Given the description of an element on the screen output the (x, y) to click on. 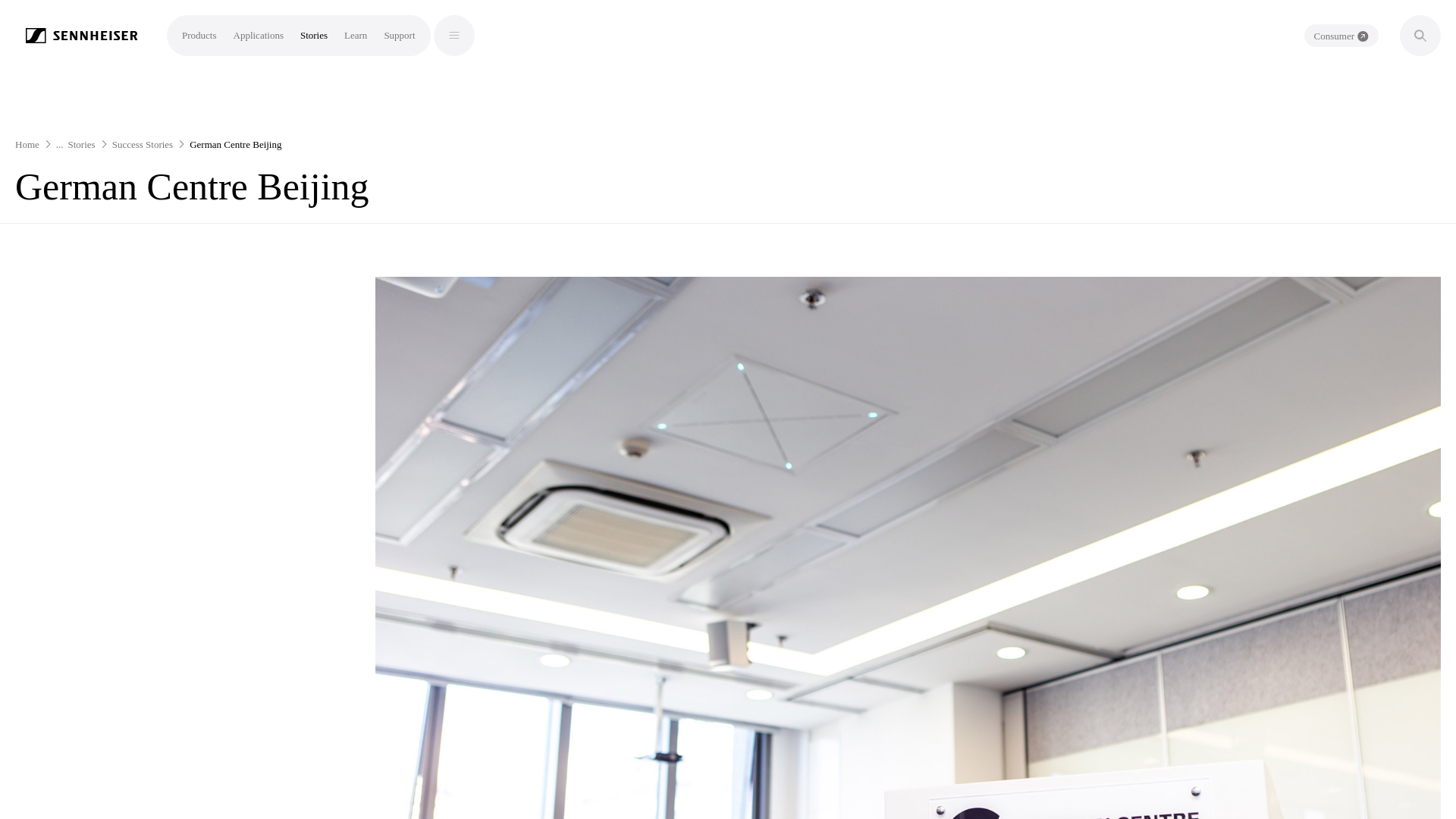
Applications (257, 35)
Consumer (1341, 35)
Learn (354, 35)
Support (399, 35)
Stories (313, 35)
Success Stories (142, 144)
Stories (82, 144)
Home (26, 144)
Products (199, 35)
